Given the description of an element on the screen output the (x, y) to click on. 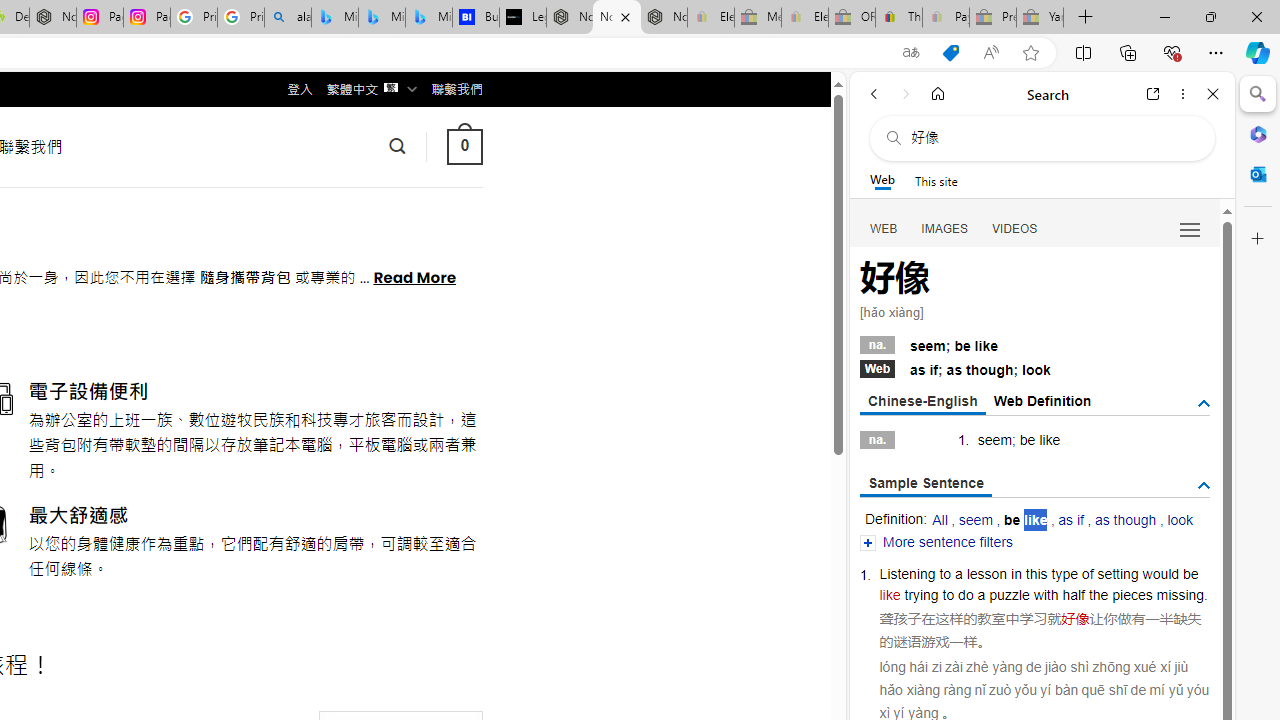
in (1016, 573)
as if (1071, 520)
na.seem; be like (1034, 343)
if (934, 370)
Webas if; as though; look (1034, 367)
half (1073, 594)
do (965, 594)
